Given the description of an element on the screen output the (x, y) to click on. 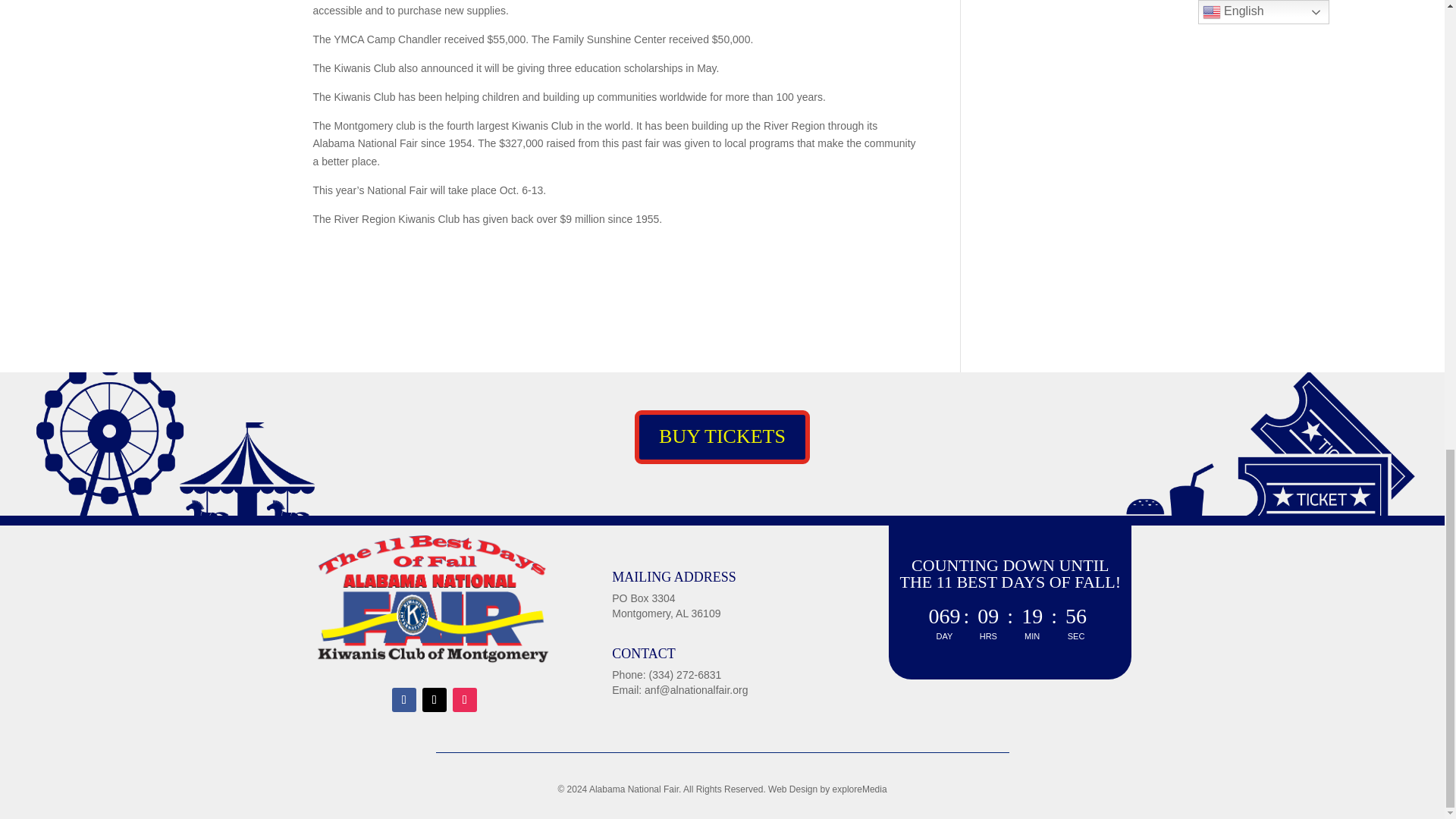
11 Day of Fair - ANF Logo (433, 600)
Follow on Facebook (403, 699)
Follow on Twitter (434, 699)
Follow on Instagram (464, 699)
